Given the description of an element on the screen output the (x, y) to click on. 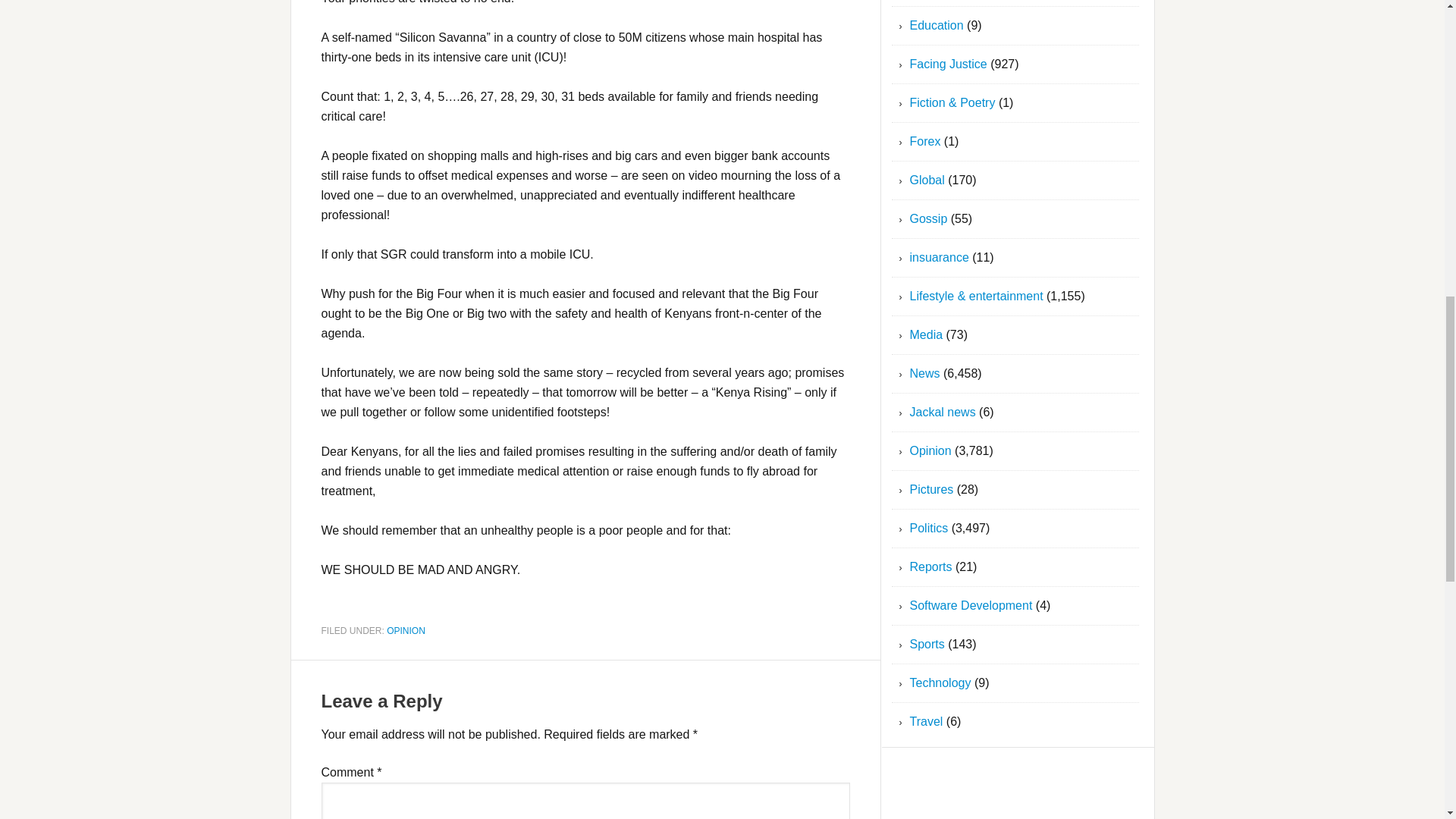
Media (926, 334)
Forex (925, 141)
Gossip (928, 218)
Global (927, 179)
OPINION (406, 629)
Facing Justice (948, 63)
Politics (929, 527)
News (925, 373)
Opinion (931, 450)
insuarance (939, 256)
